Given the description of an element on the screen output the (x, y) to click on. 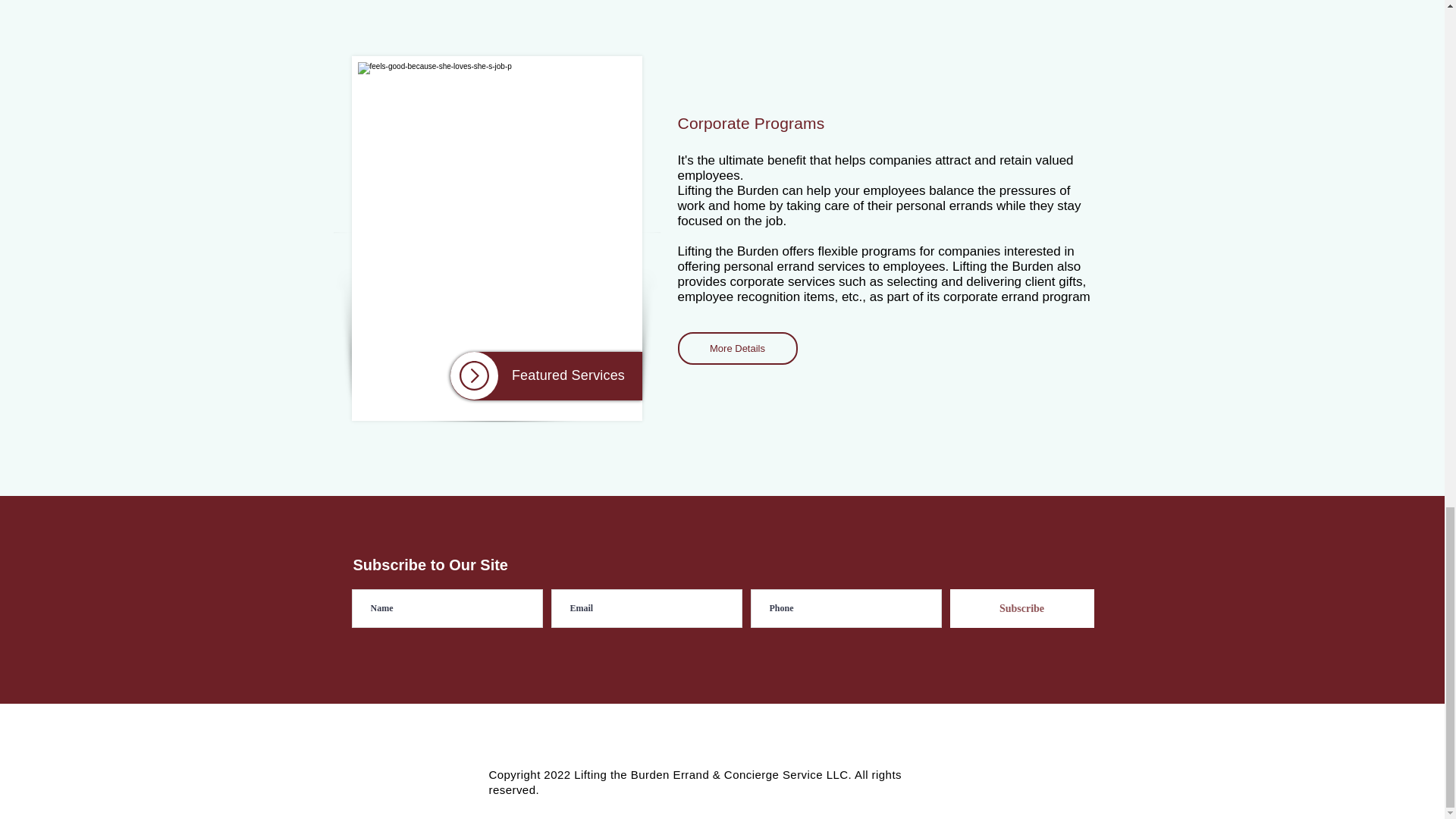
More Details (737, 348)
Subscribe (1021, 608)
